Given the description of an element on the screen output the (x, y) to click on. 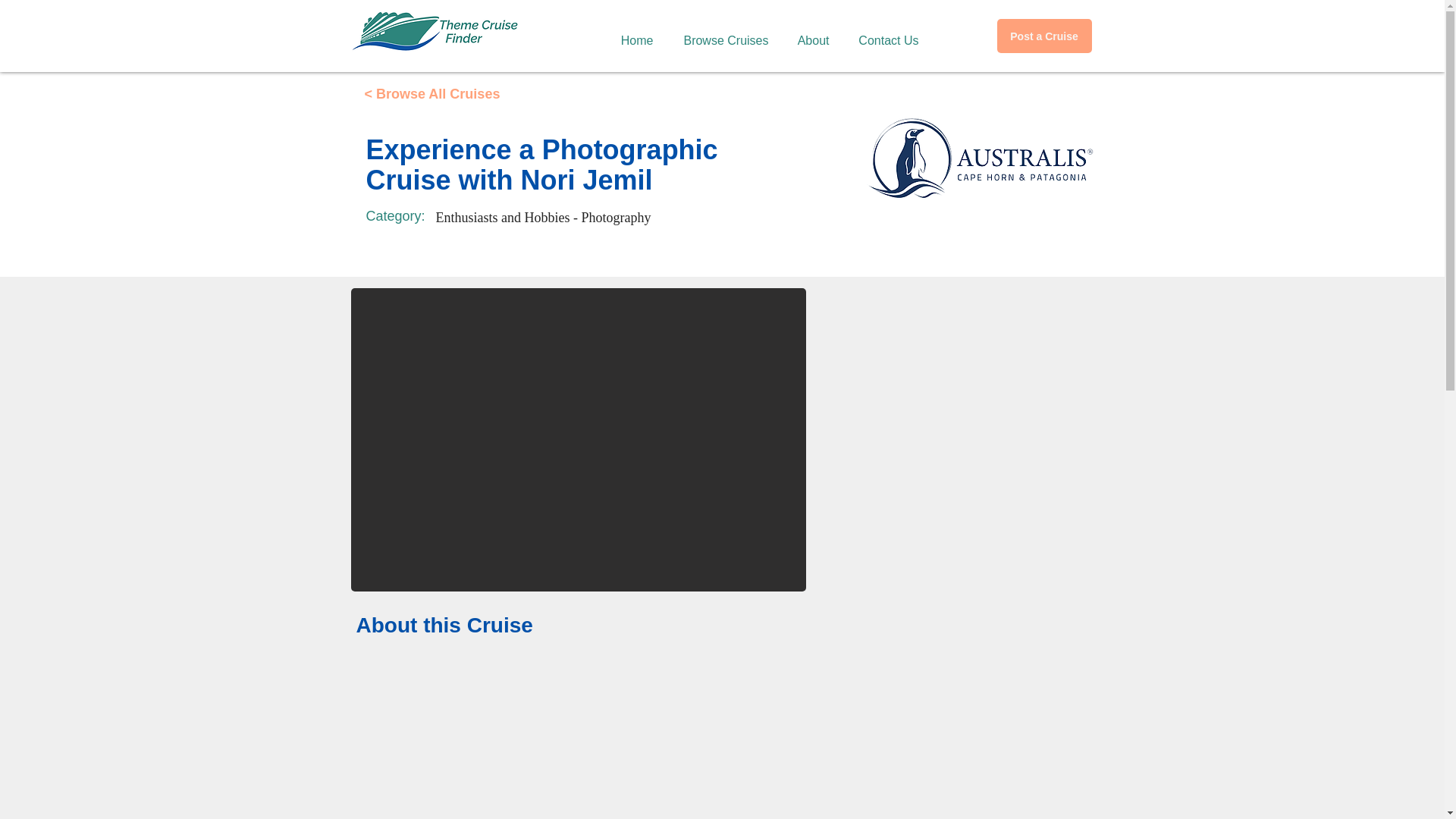
Browse Cruises (719, 33)
Contact Us (883, 33)
Australis.png (979, 159)
Home (632, 33)
Post a Cruise (1042, 35)
